Given the description of an element on the screen output the (x, y) to click on. 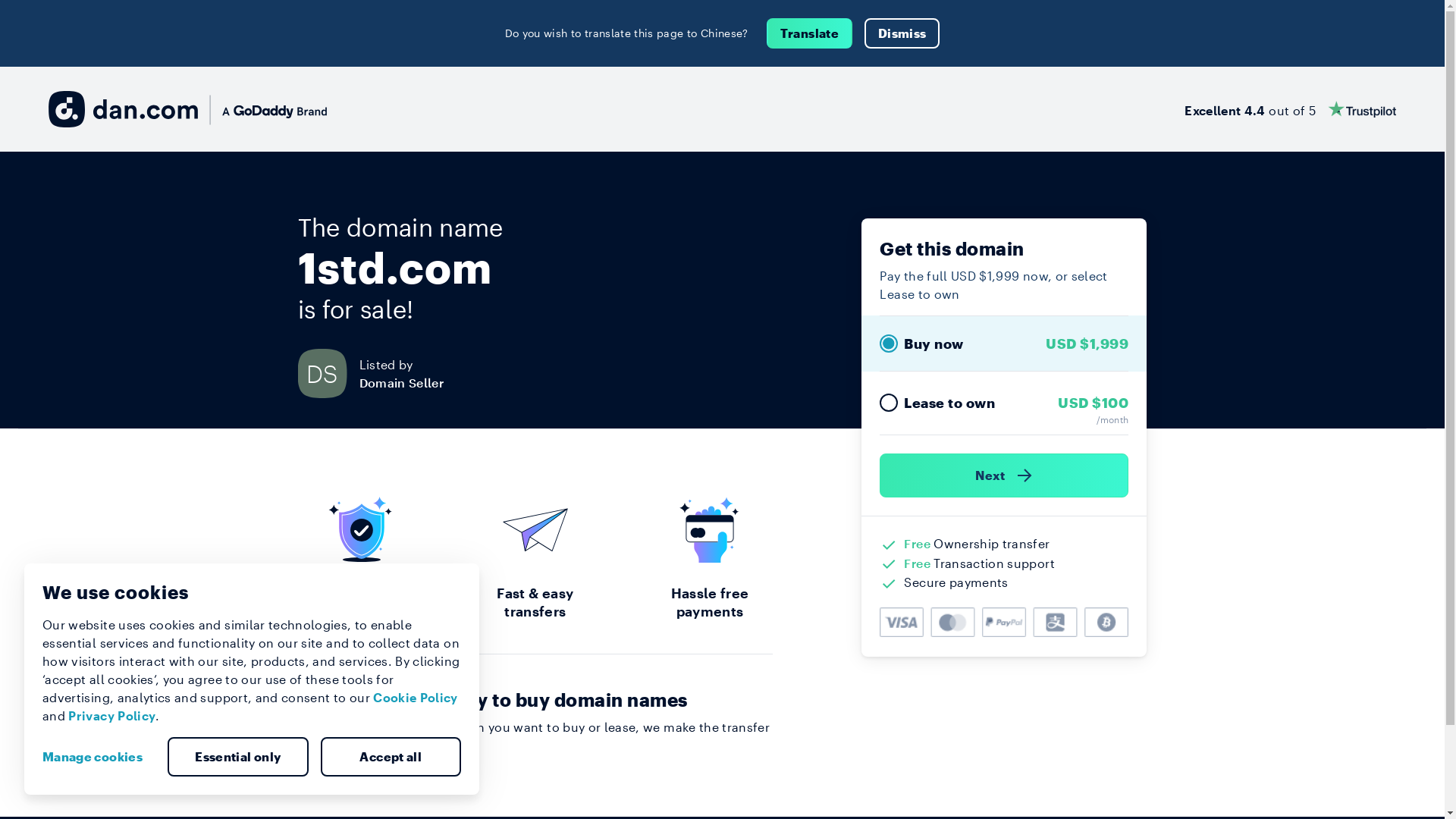
Manage cookies Element type: text (98, 756)
Dismiss Element type: text (901, 33)
Excellent 4.4 out of 5 Element type: text (1290, 109)
Next
) Element type: text (1003, 475)
Translate Element type: text (809, 33)
Cookie Policy Element type: text (415, 697)
Privacy Policy Element type: text (111, 715)
Accept all Element type: text (390, 756)
Essential only Element type: text (237, 756)
